Given the description of an element on the screen output the (x, y) to click on. 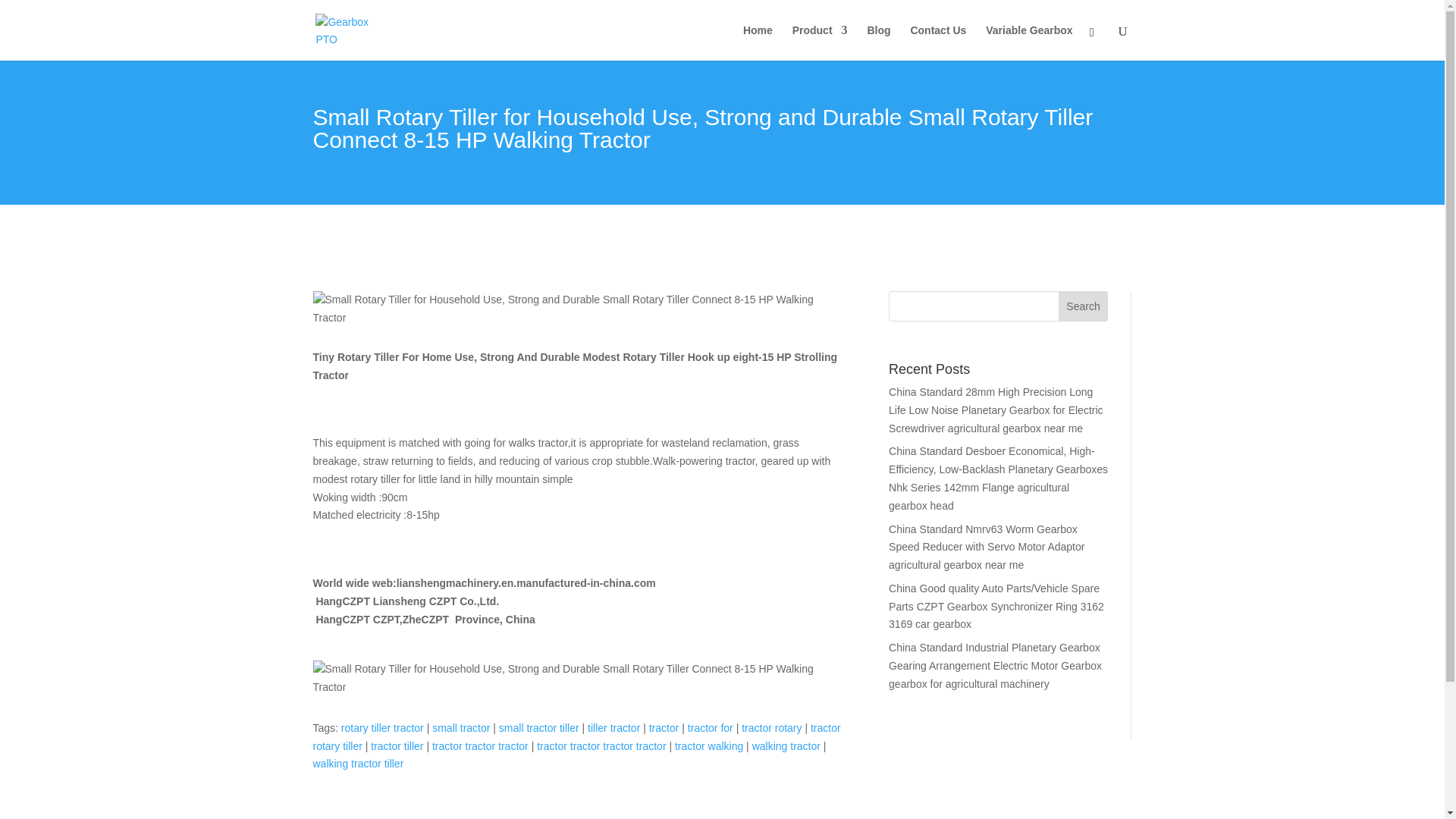
tractor tractor tractor tractor (601, 746)
Product (819, 42)
tiller tractor (614, 727)
tractor rotary tiller (576, 736)
rotary tiller tractor (381, 727)
tractor tractor tractor (480, 746)
Variable Gearbox (1028, 42)
Search (1083, 306)
tractor for (710, 727)
tractor walking (708, 746)
Contact Us (938, 42)
